Given the description of an element on the screen output the (x, y) to click on. 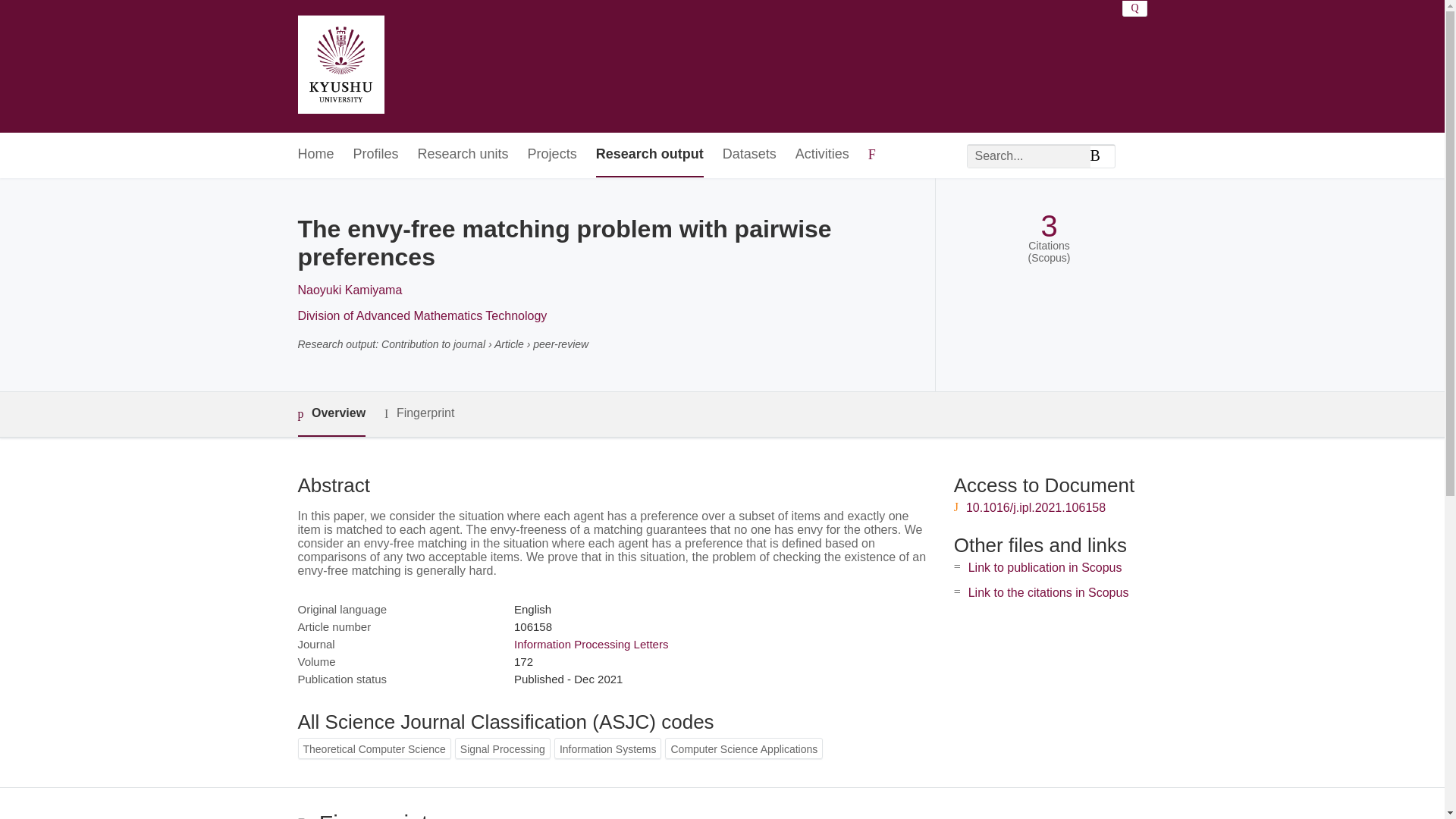
Research units (462, 154)
Activities (821, 154)
Naoyuki Kamiyama (349, 289)
Datasets (749, 154)
Information Processing Letters (590, 644)
Profiles (375, 154)
Projects (551, 154)
Link to publication in Scopus (1045, 567)
Link to the citations in Scopus (1048, 592)
